Given the description of an element on the screen output the (x, y) to click on. 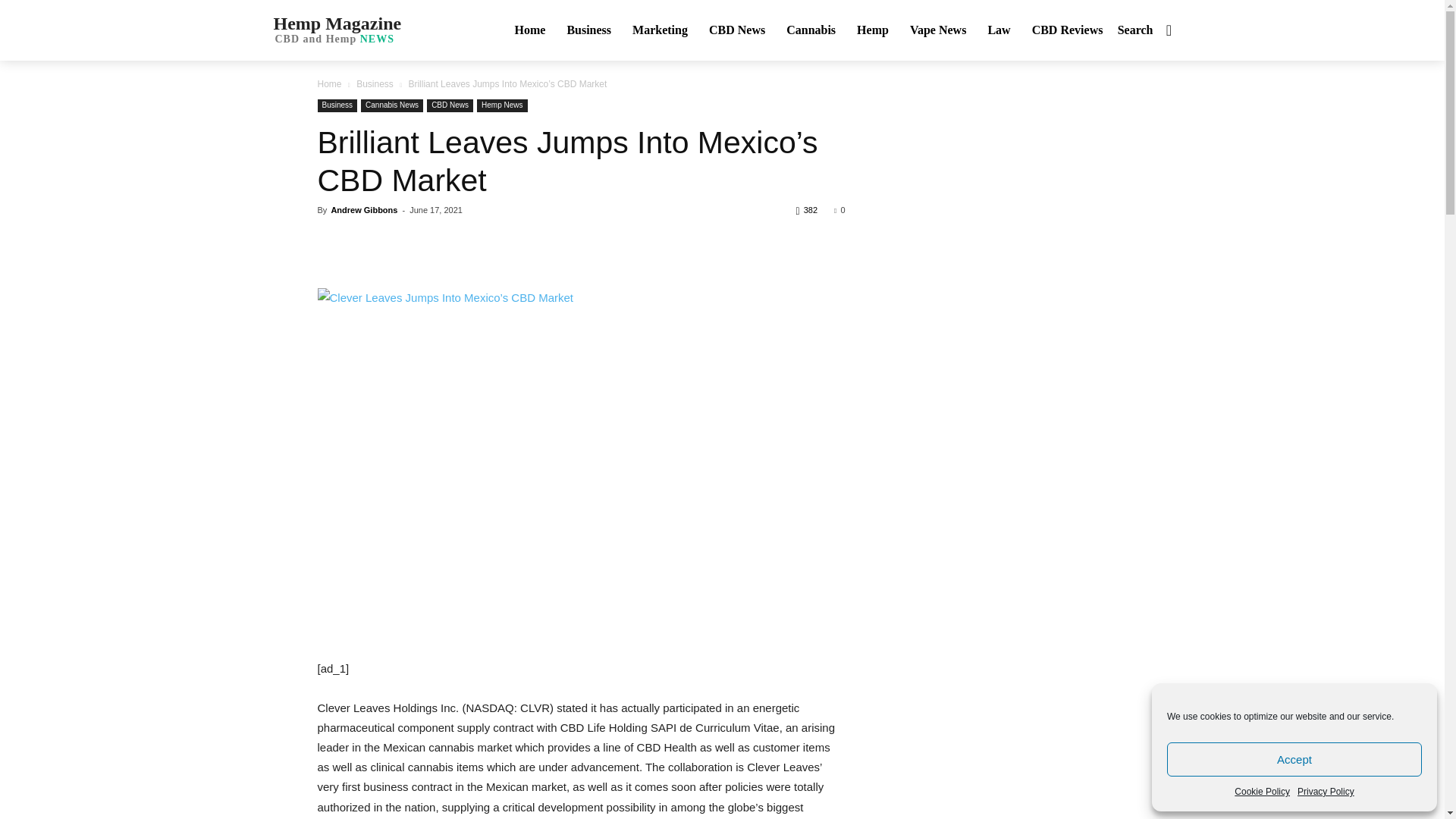
Accept (1294, 759)
Business (588, 30)
Search (1147, 30)
View all posts in Business (333, 28)
Cookie Policy (374, 83)
Privacy Policy (1262, 791)
